Given the description of an element on the screen output the (x, y) to click on. 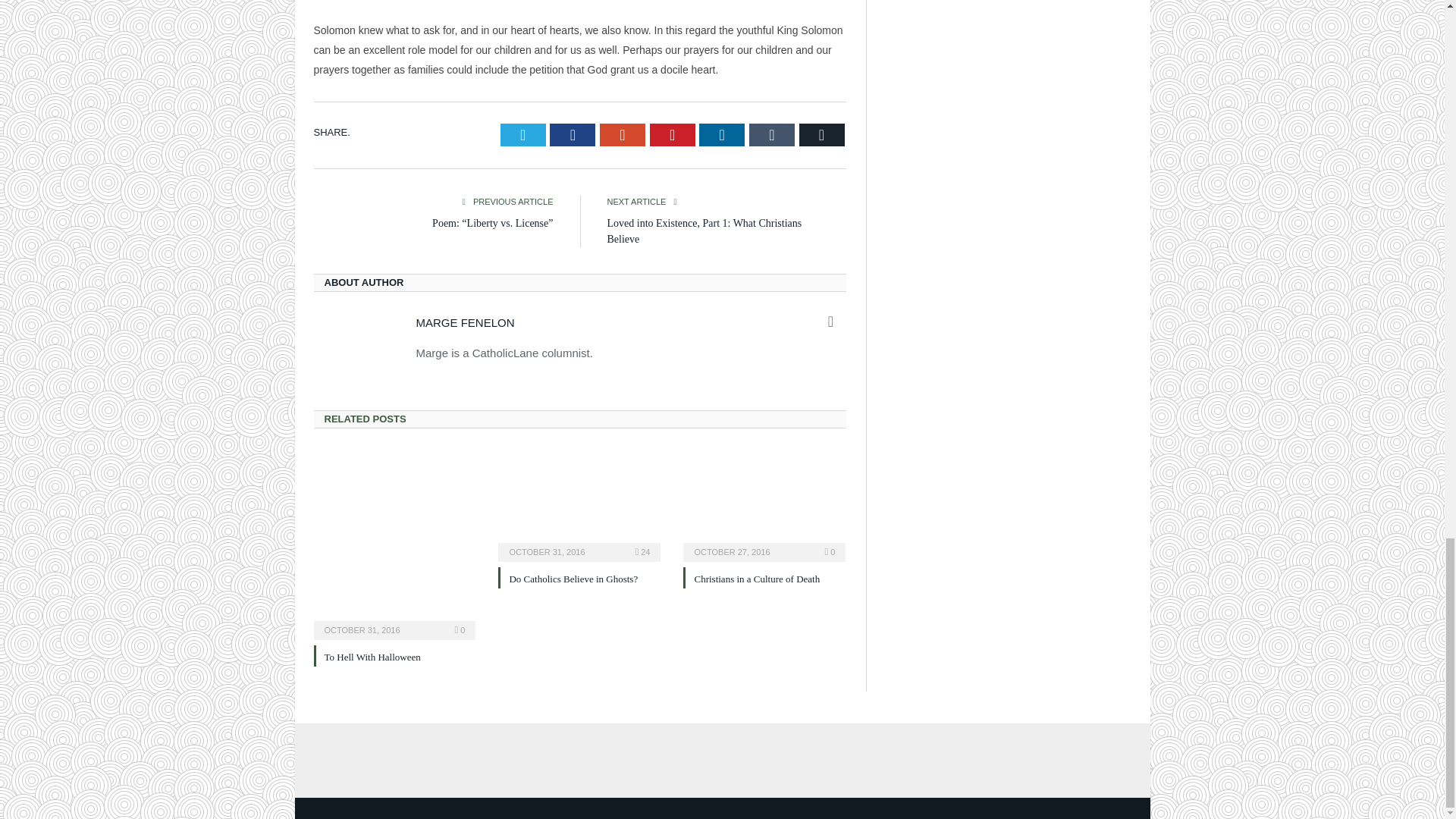
Tumblr (771, 134)
Pinterest (672, 134)
MARGE FENELON (463, 322)
Loved into Existence, Part 1: What Christians Believe (704, 230)
Facebook (572, 134)
Email (821, 134)
LinkedIn (721, 134)
Website (831, 321)
To Hell With Halloween (372, 656)
Twitter (523, 134)
